Given the description of an element on the screen output the (x, y) to click on. 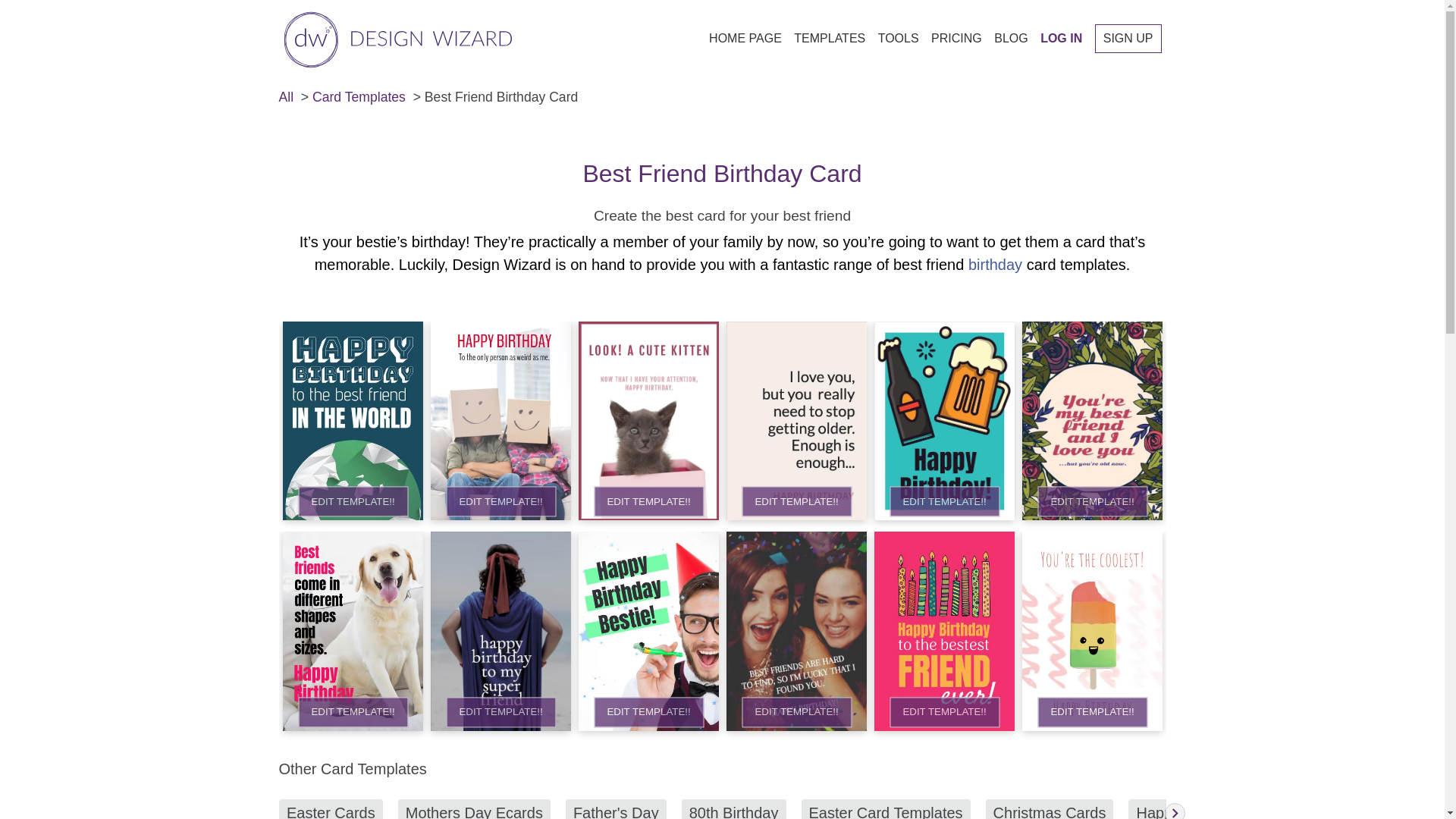
Easter Card Templates (884, 809)
80th Birthday (733, 809)
birthday (995, 264)
EDIT TEMPLATE!! (500, 711)
EDIT TEMPLATE!! (796, 711)
EDIT TEMPLATE!! (1091, 711)
EDIT TEMPLATE!! (500, 501)
Easter Cards (330, 809)
TOOLS (897, 38)
Father's Day (614, 809)
